Given the description of an element on the screen output the (x, y) to click on. 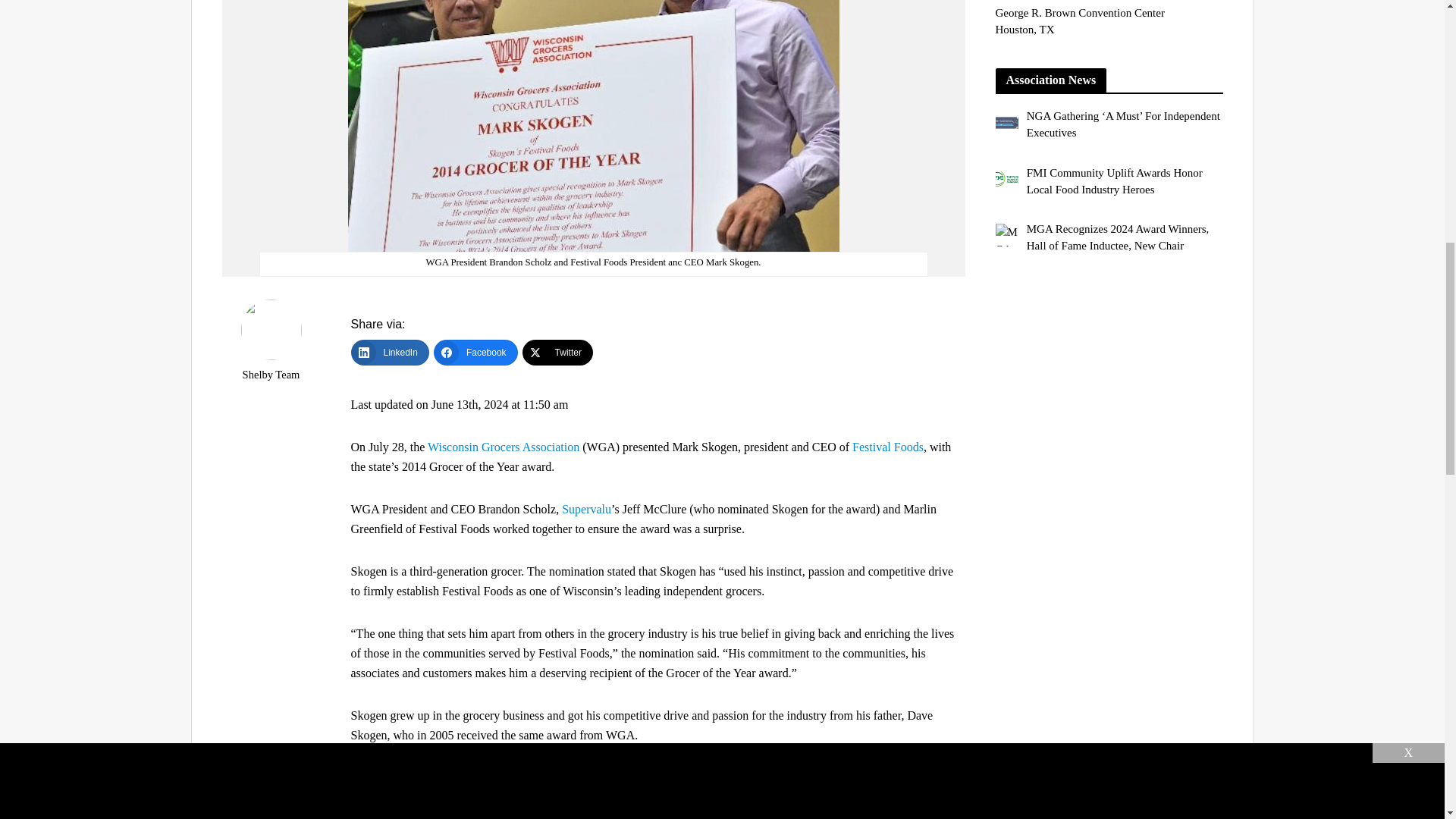
Supervalu (586, 508)
Wisconsin Grocers Association (503, 446)
Festival Foods (887, 446)
